Given the description of an element on the screen output the (x, y) to click on. 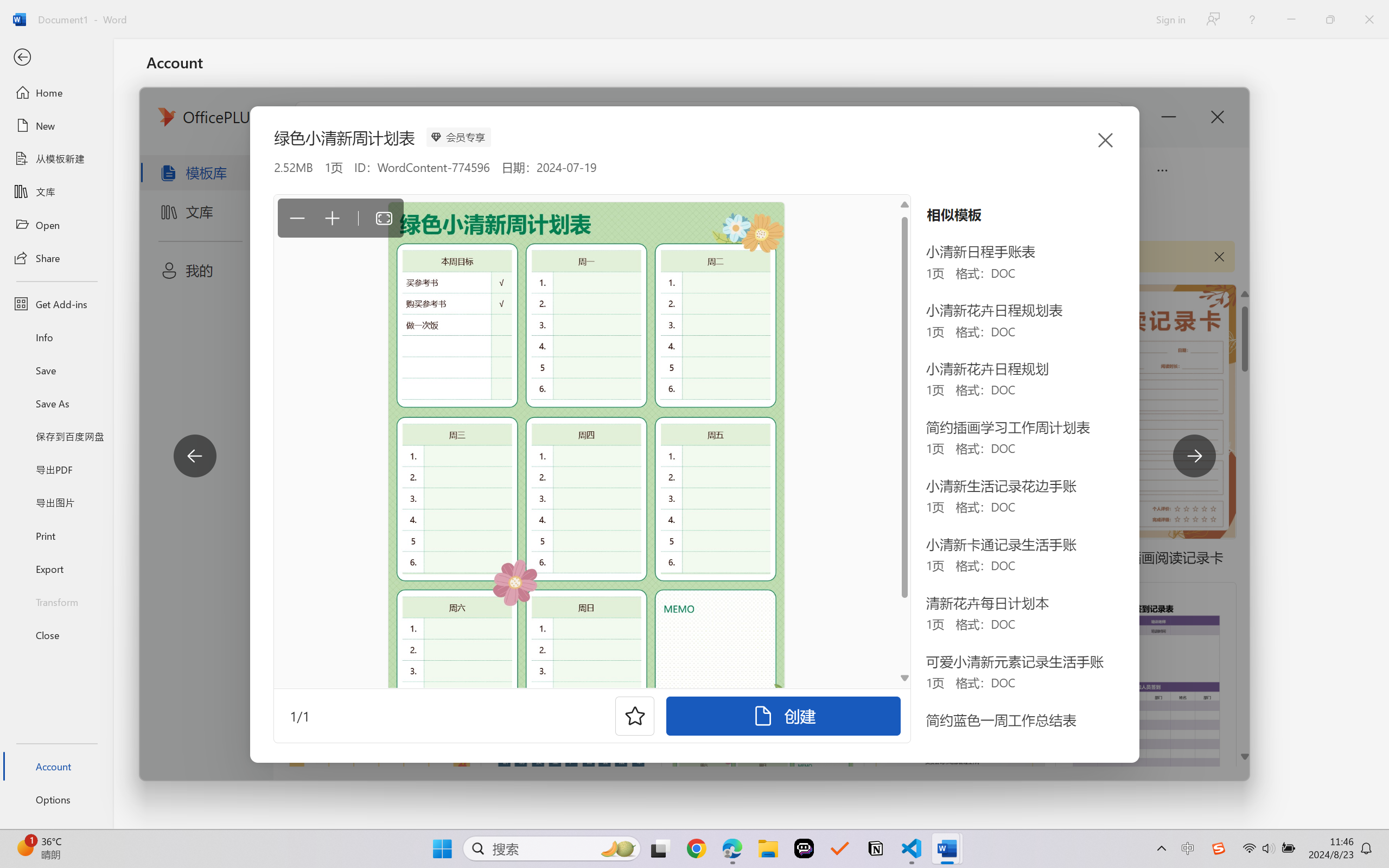
Options (56, 798)
Get Add-ins (56, 303)
New (56, 125)
